Given the description of an element on the screen output the (x, y) to click on. 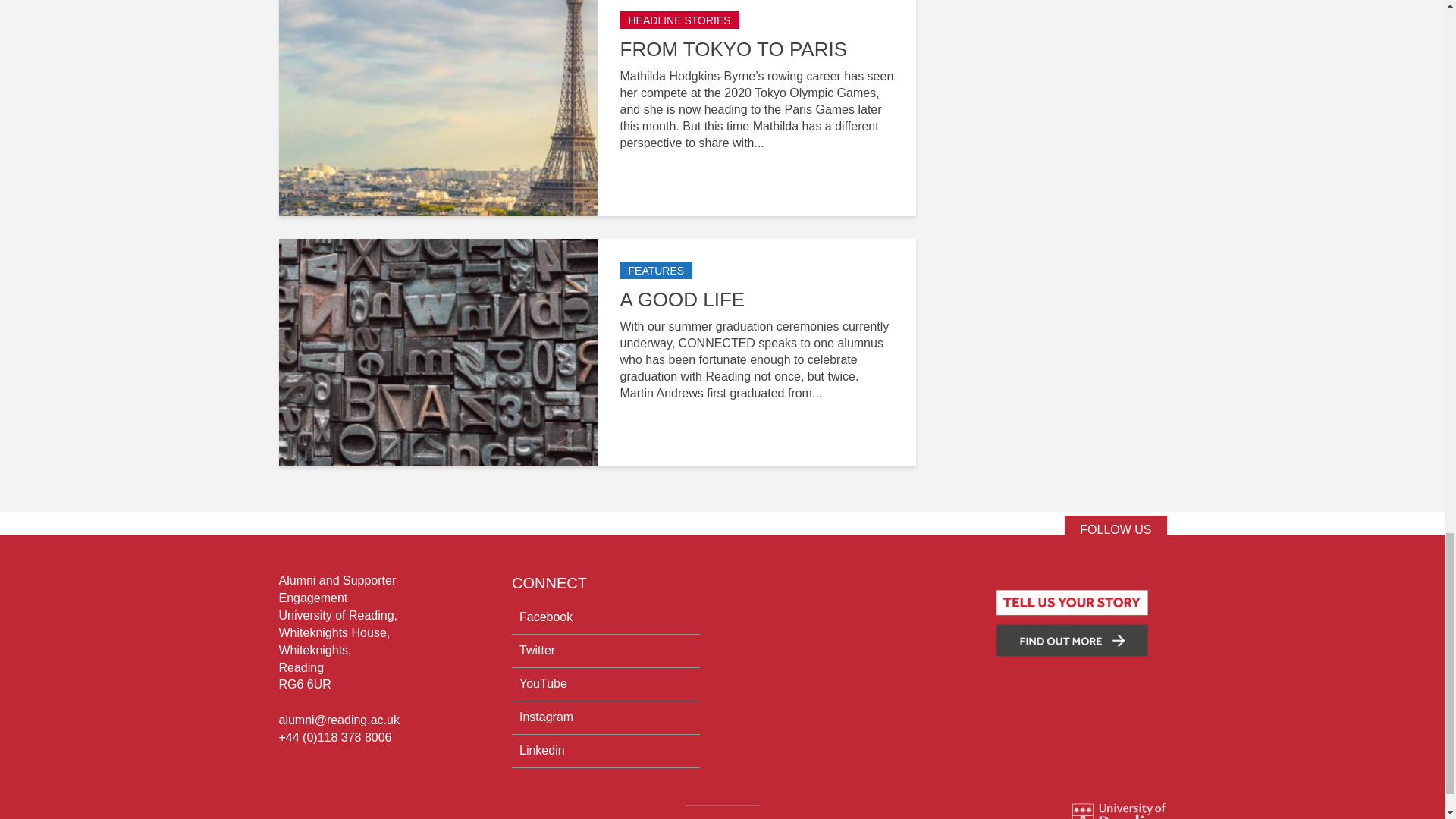
A Good Life (437, 350)
From Tokyo To Paris (437, 101)
HEADLINE STORIES (679, 19)
Follow Connected on Twitter (1115, 529)
A GOOD LIFE (756, 299)
FROM TOKYO TO PARIS (756, 49)
FEATURES (656, 270)
